Given the description of an element on the screen output the (x, y) to click on. 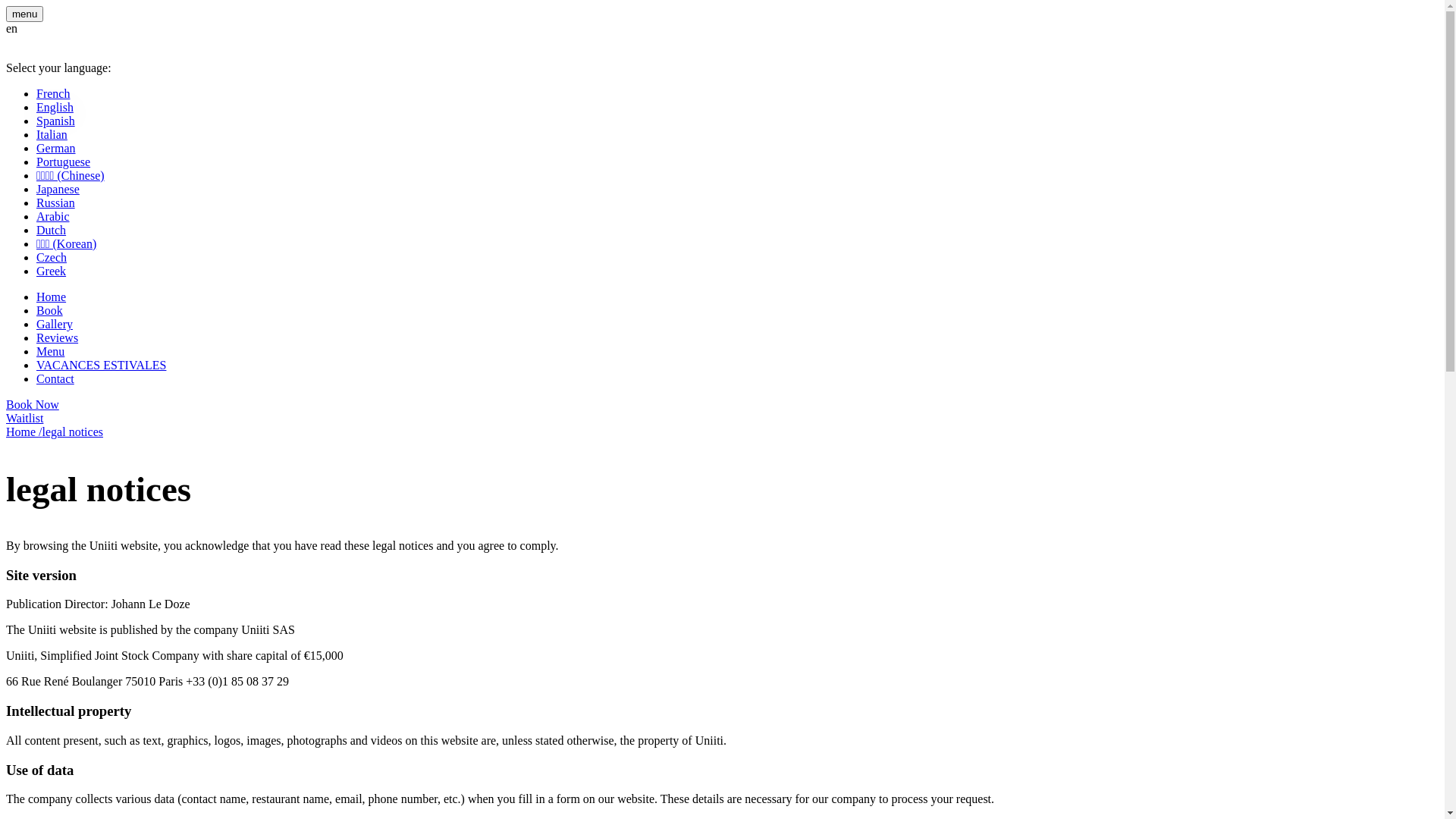
Dutch Element type: text (50, 229)
Greek Element type: text (50, 270)
Arabic Element type: text (52, 216)
Italian Element type: text (51, 134)
Waitlist Element type: text (24, 417)
Gallery Element type: text (54, 323)
Portuguese Element type: text (63, 161)
English Element type: text (54, 106)
German Element type: text (55, 147)
menu Element type: text (24, 13)
Book Element type: text (49, 310)
Russian Element type: text (55, 202)
Home Element type: text (50, 296)
Menu Element type: text (50, 351)
Contact Element type: text (55, 378)
Book Now Element type: text (32, 404)
Reviews Element type: text (57, 337)
Czech Element type: text (51, 257)
Japanese Element type: text (57, 188)
VACANCES ESTIVALES Element type: text (101, 364)
Home /legal notices Element type: text (54, 431)
Spanish Element type: text (55, 120)
French Element type: text (52, 93)
